Given the description of an element on the screen output the (x, y) to click on. 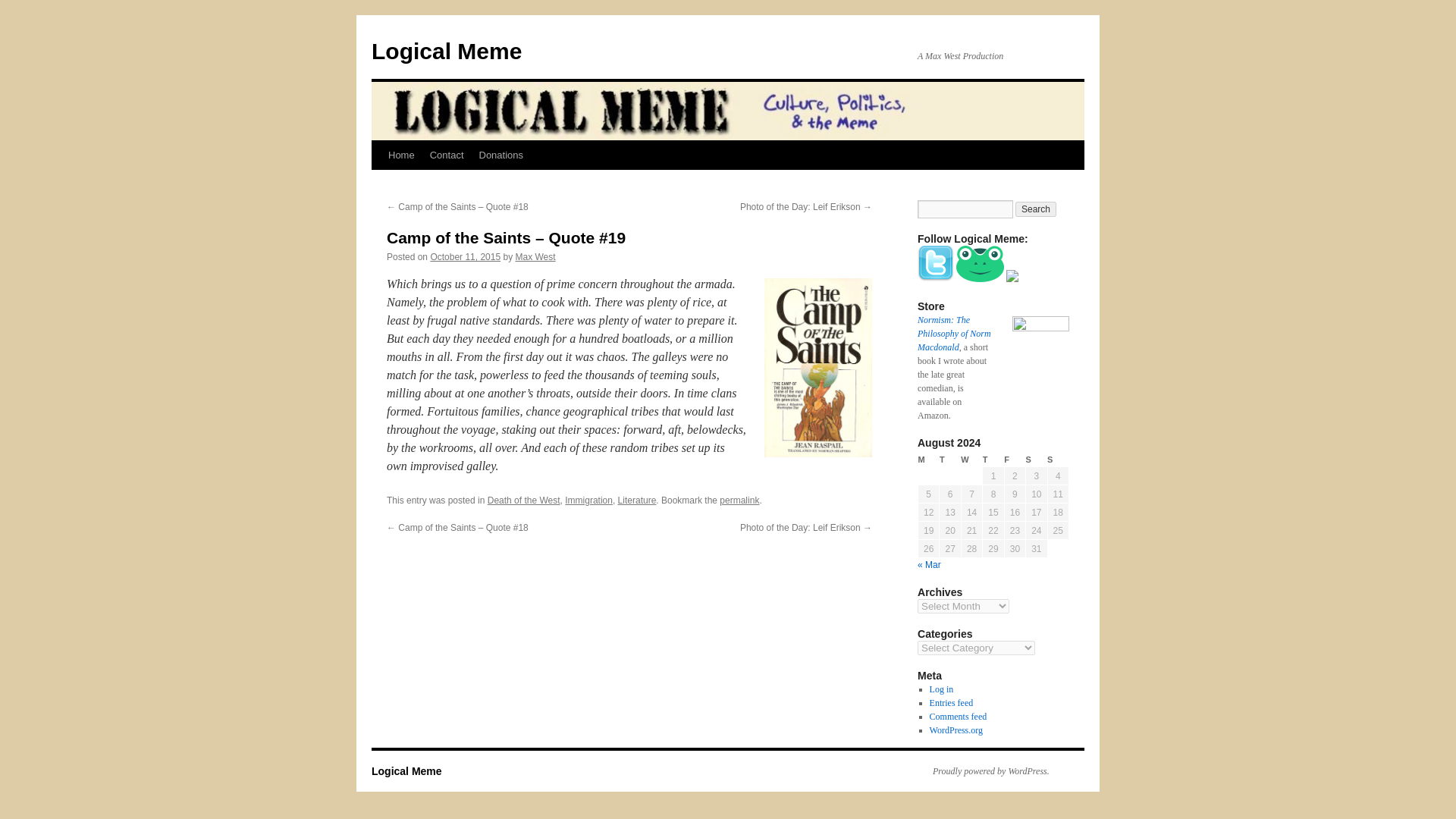
WordPress.org (956, 729)
Home (401, 154)
9:13 pm (464, 256)
Search (1035, 209)
Donations (501, 154)
Entries feed (952, 702)
Search (1035, 209)
View all posts by Max West (535, 256)
Wednesday (970, 459)
Logical Meme (446, 50)
